Given the description of an element on the screen output the (x, y) to click on. 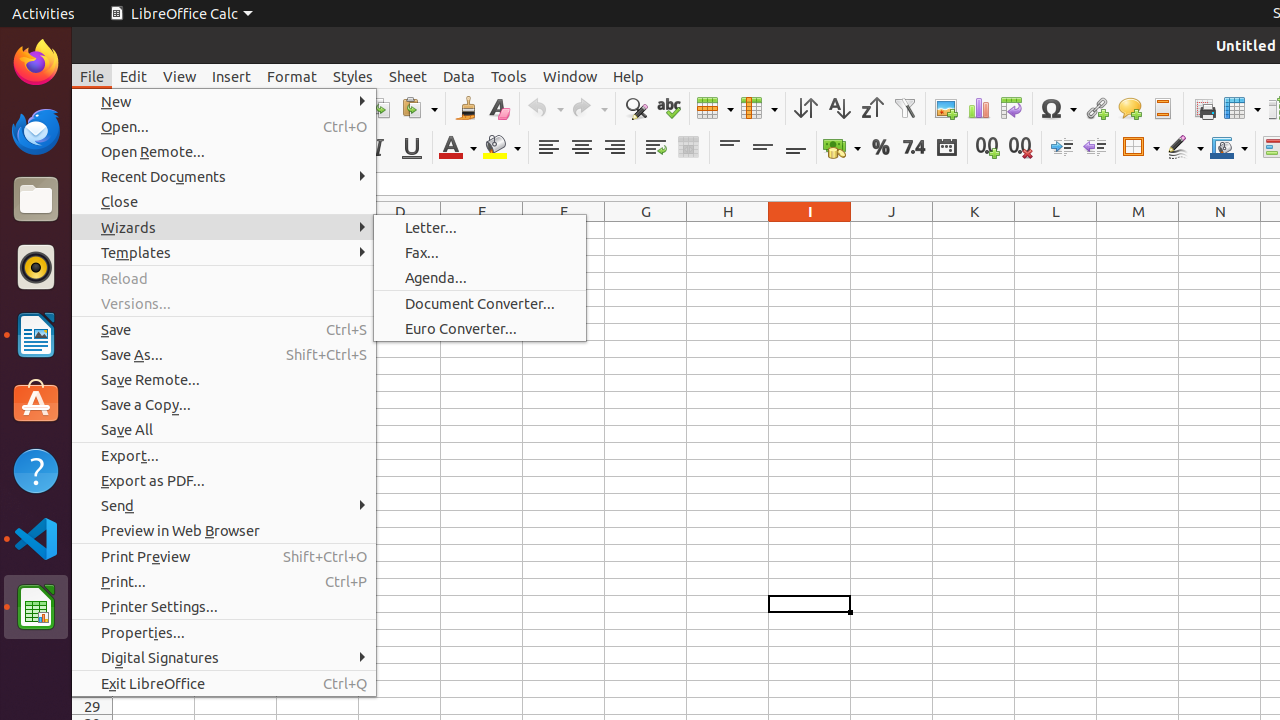
Data Element type: menu (459, 76)
Freeze Rows and Columns Element type: push-button (1242, 108)
Font Color Element type: push-button (458, 147)
Reload Element type: menu-item (224, 278)
File Element type: menu (92, 76)
